Given the description of an element on the screen output the (x, y) to click on. 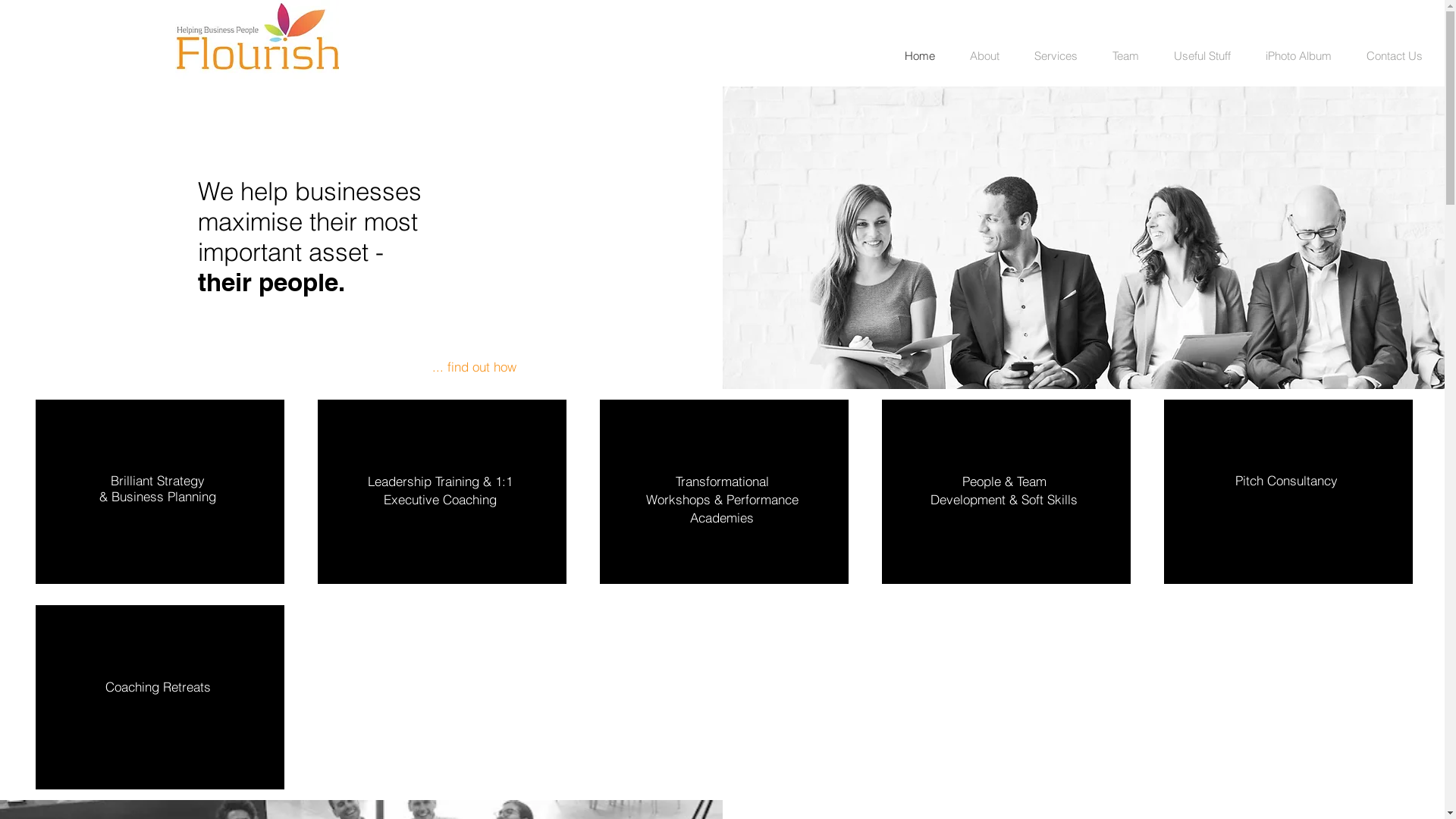
Transformational Workshops & Performance Academies Element type: text (722, 499)
Flourish logo captured.JPG Element type: hover (256, 40)
Contact Us Element type: text (1394, 56)
Brilliant Strategy & Business Planning Element type: text (157, 488)
Team Element type: text (1125, 56)
Useful Stuff Element type: text (1202, 56)
Leadership Training & 1:1 Executive Coaching Element type: text (439, 490)
Services Element type: text (1055, 56)
People & Team Development & Soft Skills Element type: text (1003, 490)
iPhoto Album Element type: text (1298, 56)
... find out how Element type: text (474, 366)
About Element type: text (984, 56)
Home Element type: text (919, 56)
Coaching Retreats Element type: text (157, 686)
Pitch Consultancy Element type: text (1285, 480)
